Given the description of an element on the screen output the (x, y) to click on. 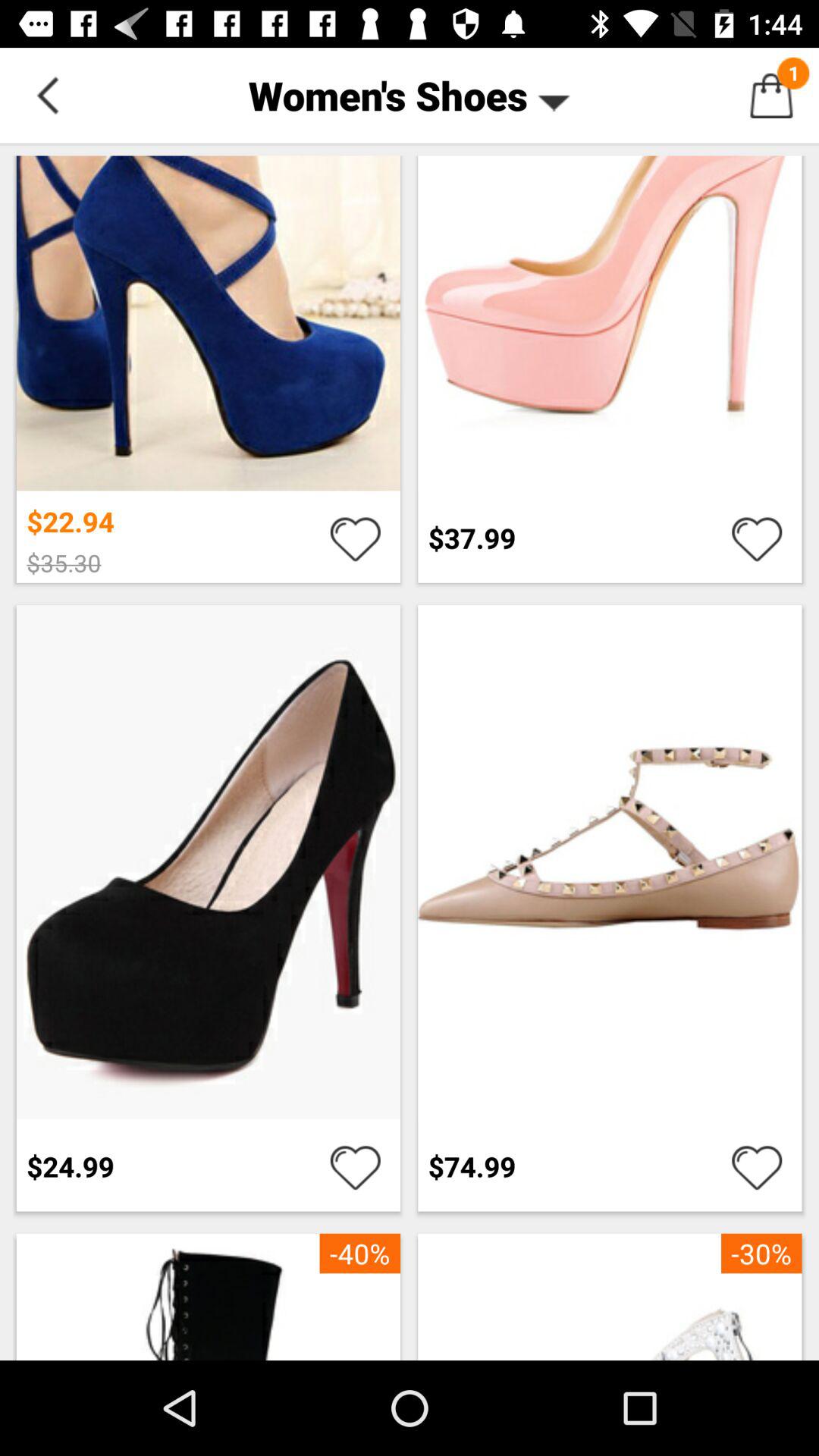
shows like heart symbol (355, 537)
